Given the description of an element on the screen output the (x, y) to click on. 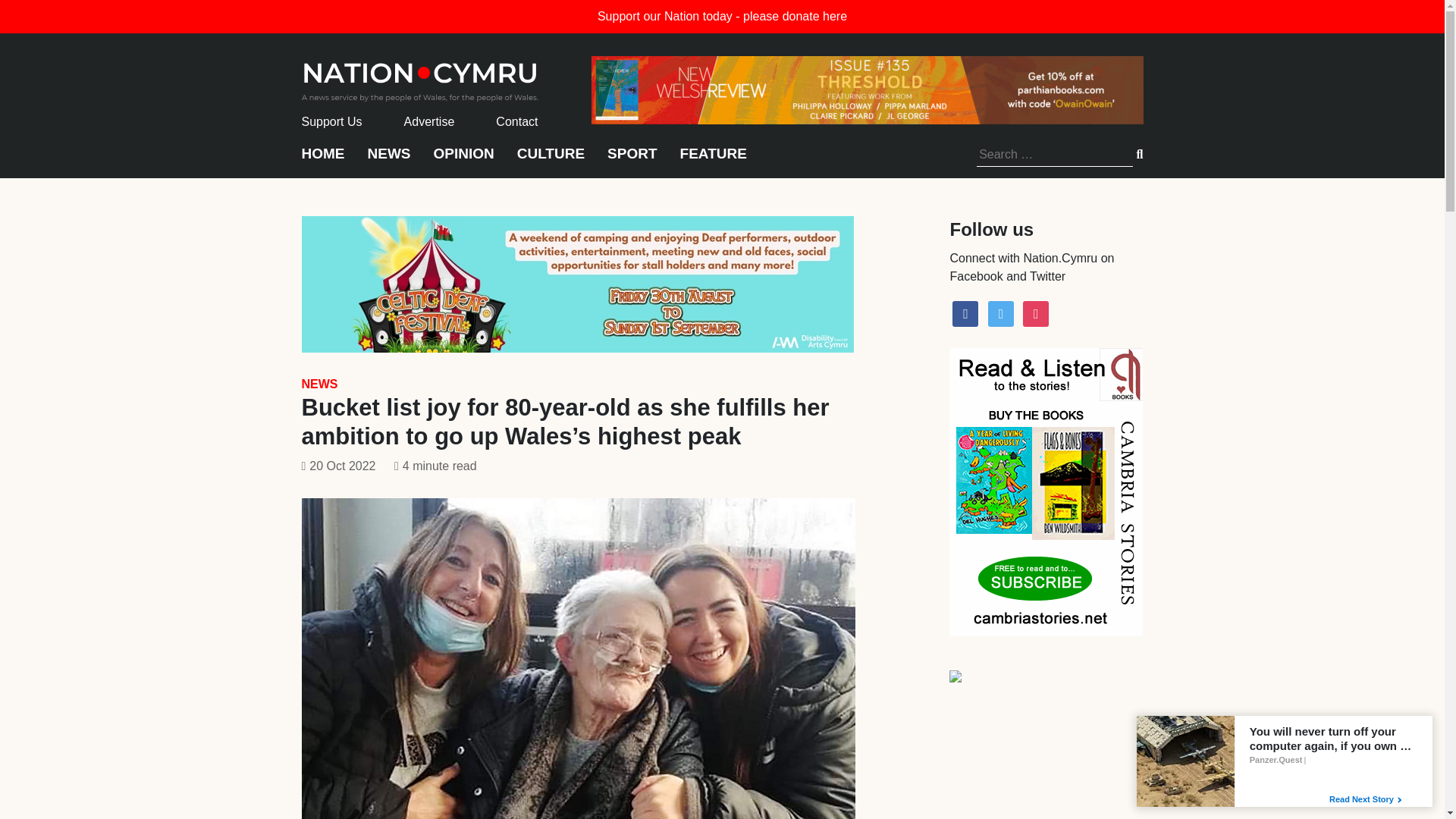
Contact (516, 121)
NEWS (388, 160)
HOME (323, 160)
FEATURE (712, 160)
Advertise (429, 121)
NEWS (319, 383)
CULTURE (550, 160)
Support Us (331, 121)
SPORT (631, 160)
OPINION (464, 160)
home (419, 77)
